Given the description of an element on the screen output the (x, y) to click on. 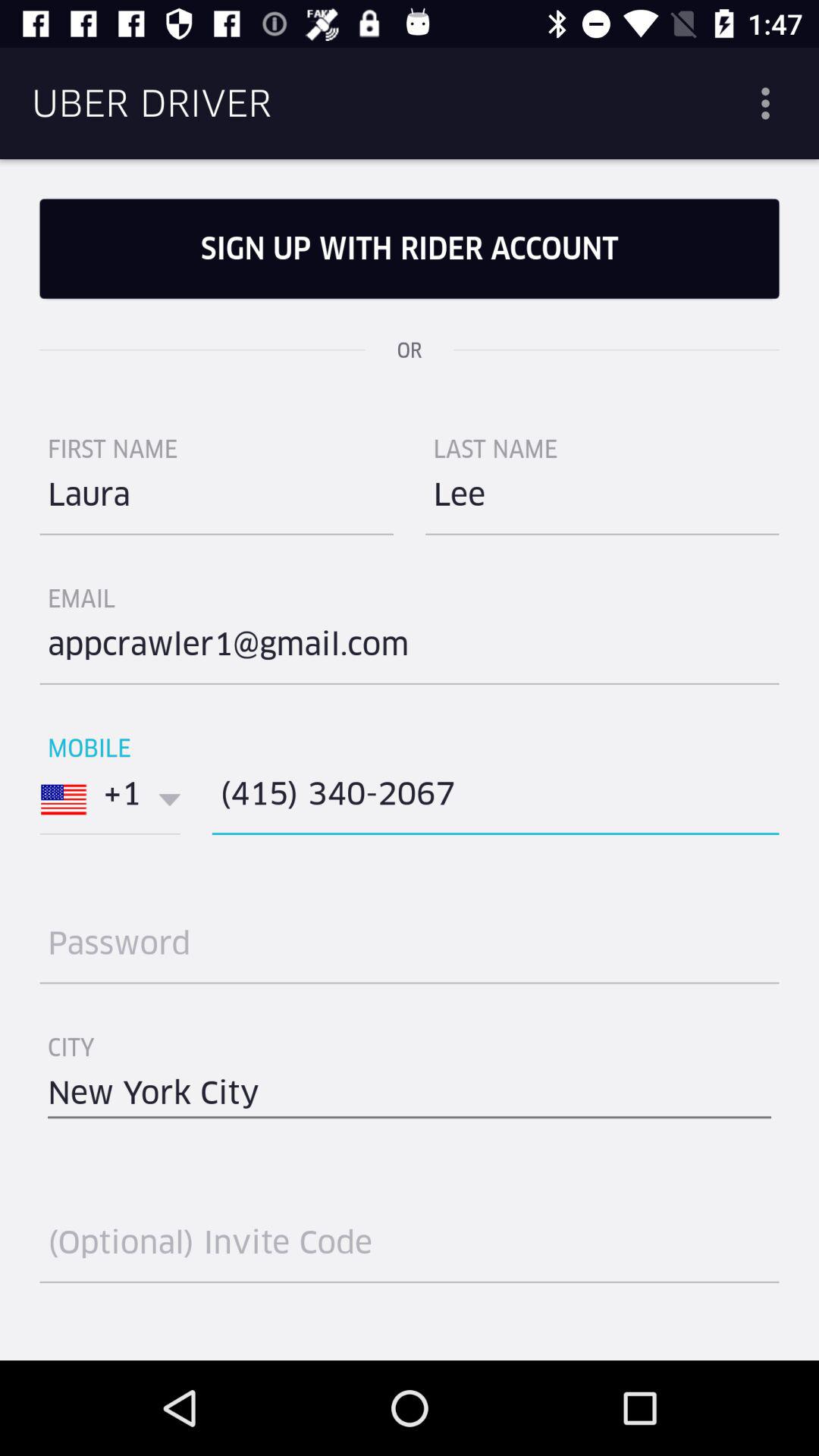
select icon on the right (602, 500)
